Given the description of an element on the screen output the (x, y) to click on. 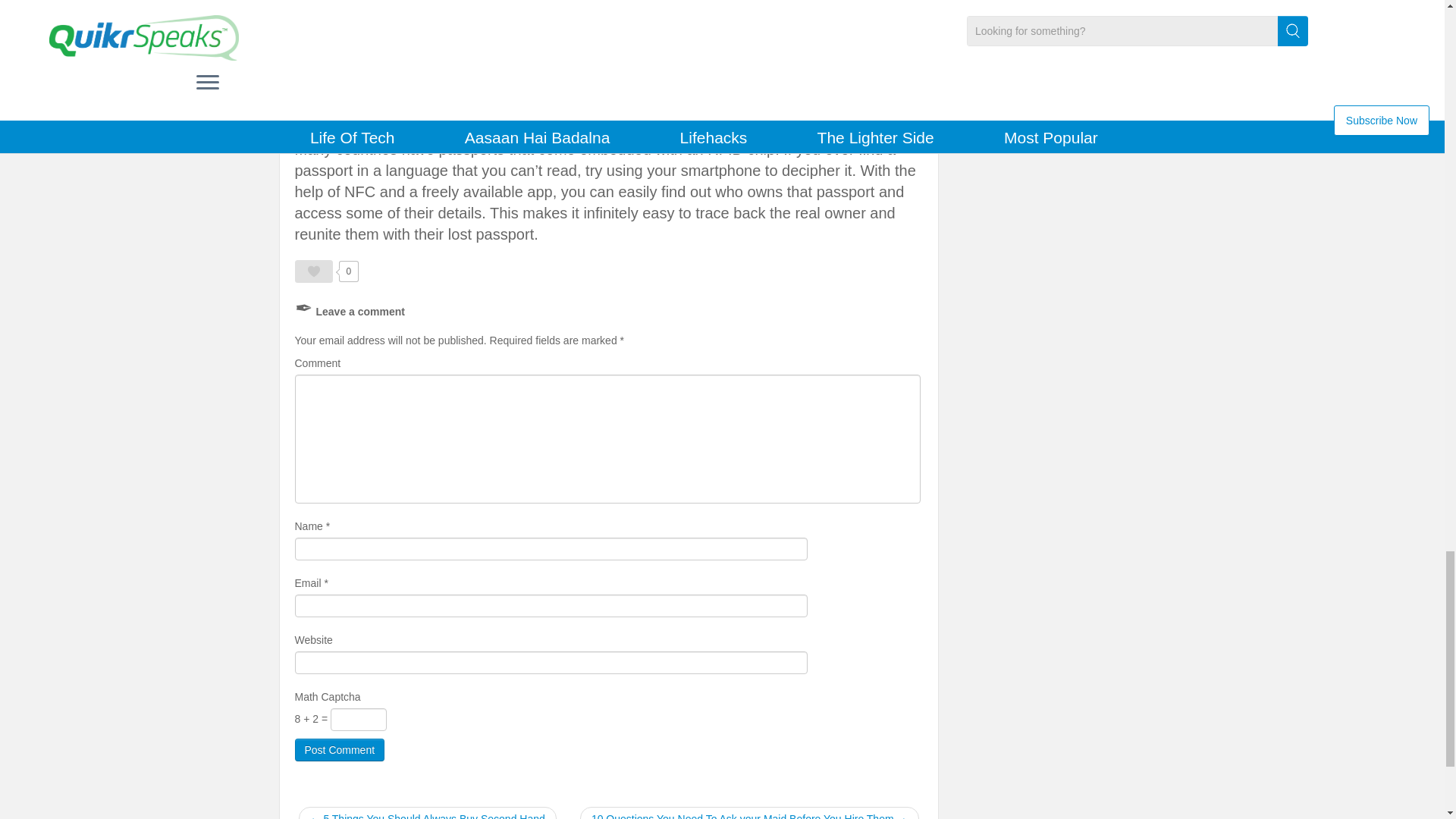
Post Comment (339, 749)
